Given the description of an element on the screen output the (x, y) to click on. 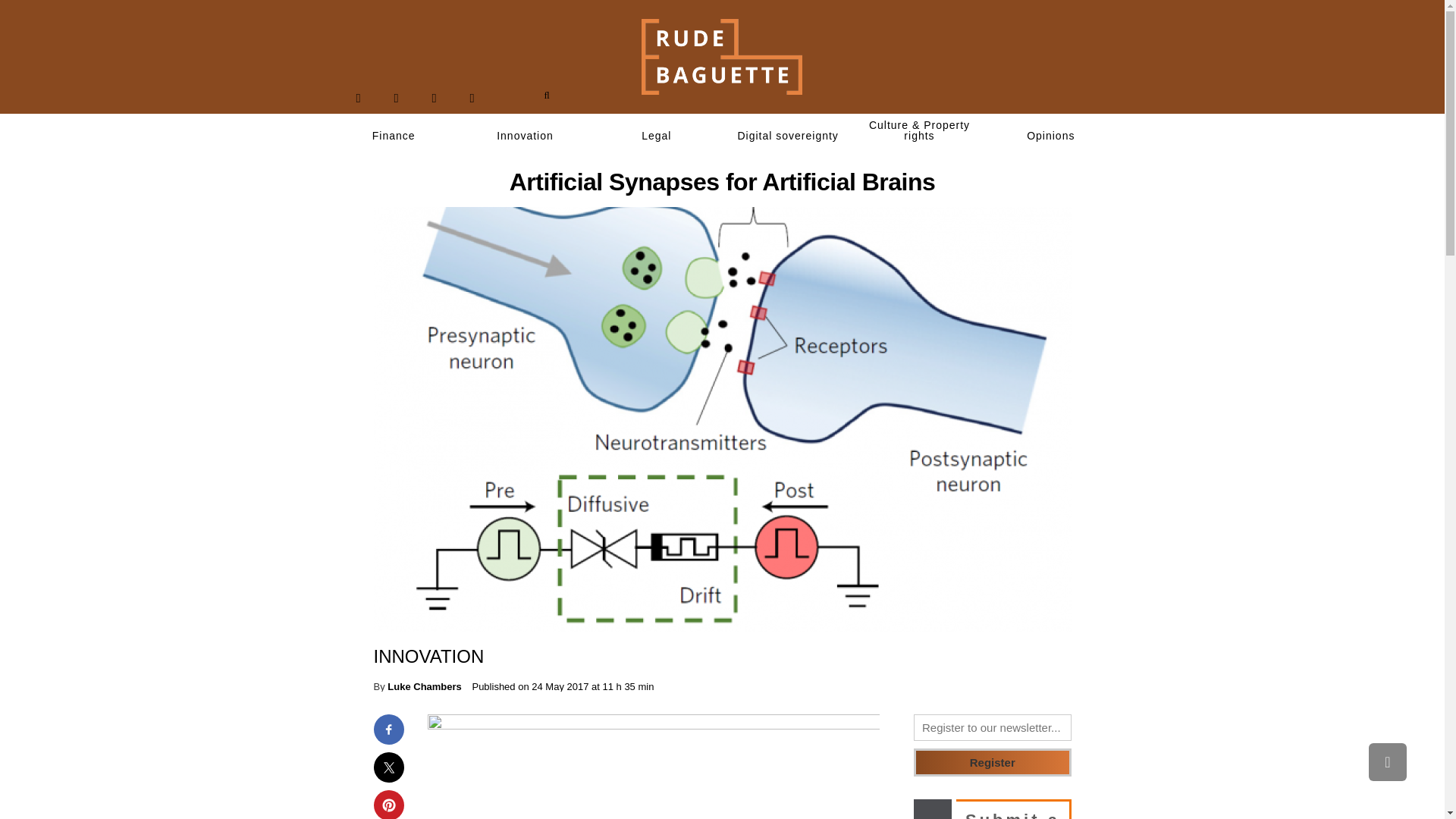
Innovation (524, 135)
Facebook (358, 97)
Opinions (1051, 135)
LinkedIn (434, 97)
Scroll to top (1387, 761)
Digital sovereignty (787, 135)
Scroll to top (1387, 761)
Register (992, 762)
Scroll to top (1387, 761)
Legal (656, 135)
Twitter (396, 97)
Scroll to top (1387, 761)
RSS (472, 97)
Luke Chambers (424, 686)
Register (992, 762)
